Given the description of an element on the screen output the (x, y) to click on. 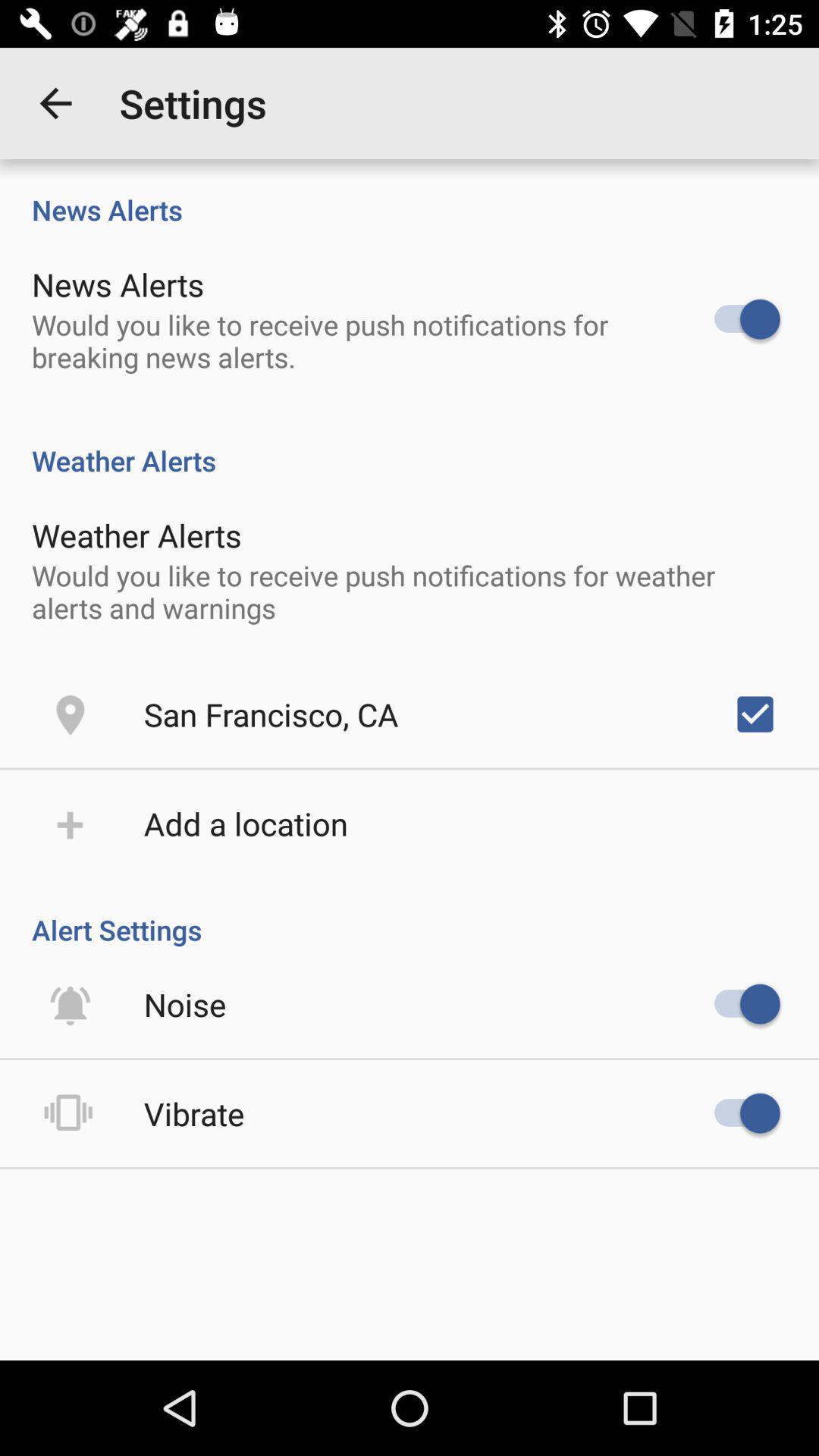
turn on vibrate (193, 1113)
